Given the description of an element on the screen output the (x, y) to click on. 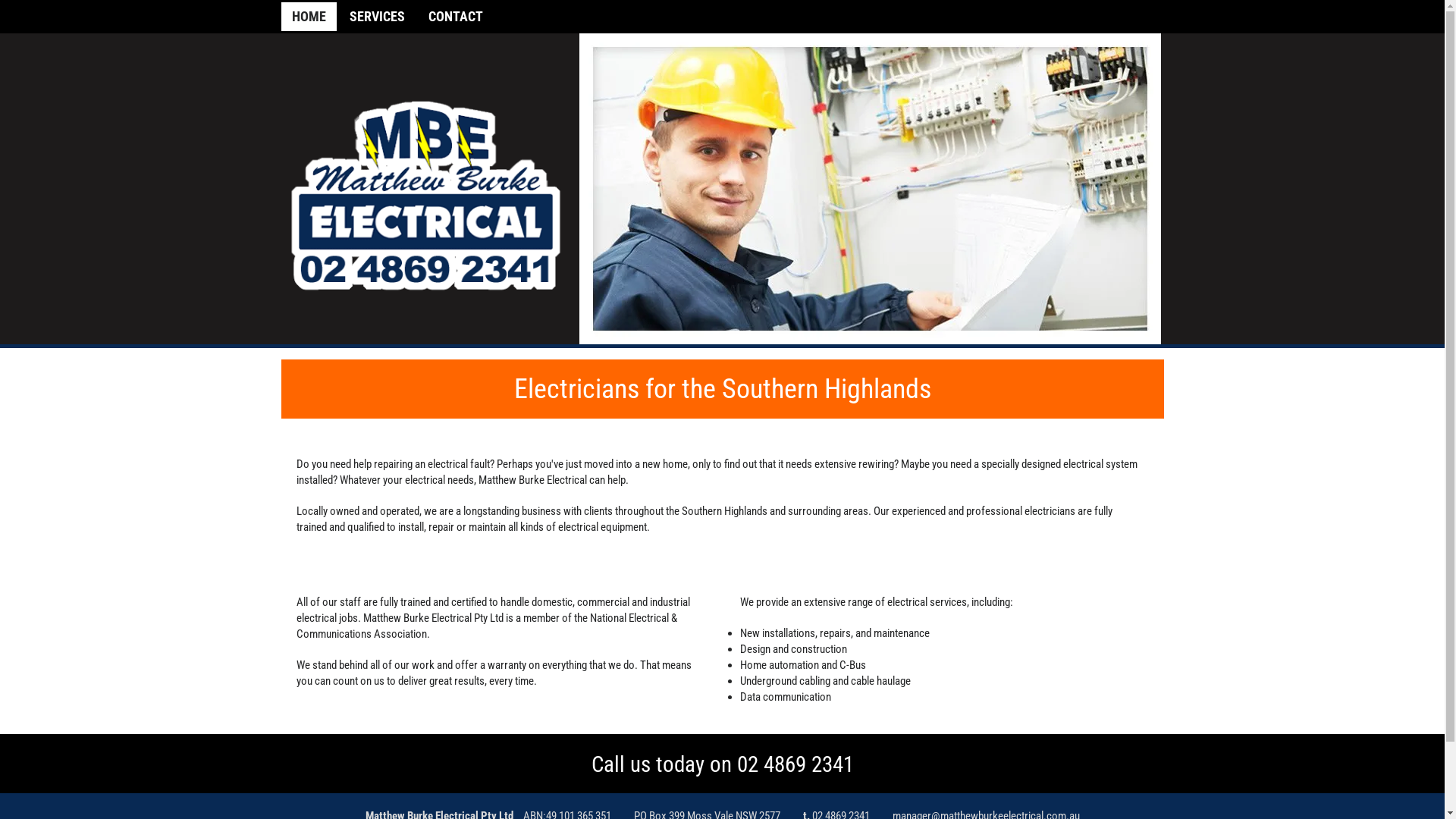
CONTACT Element type: text (454, 16)
SERVICES Element type: text (376, 16)
02 4869 2341 Element type: text (795, 764)
matthew burke electrical pty ltd business logo Element type: hover (425, 198)
matthew burke electrical pty ltd electrician Element type: hover (870, 188)
HOME Element type: text (308, 16)
